Given the description of an element on the screen output the (x, y) to click on. 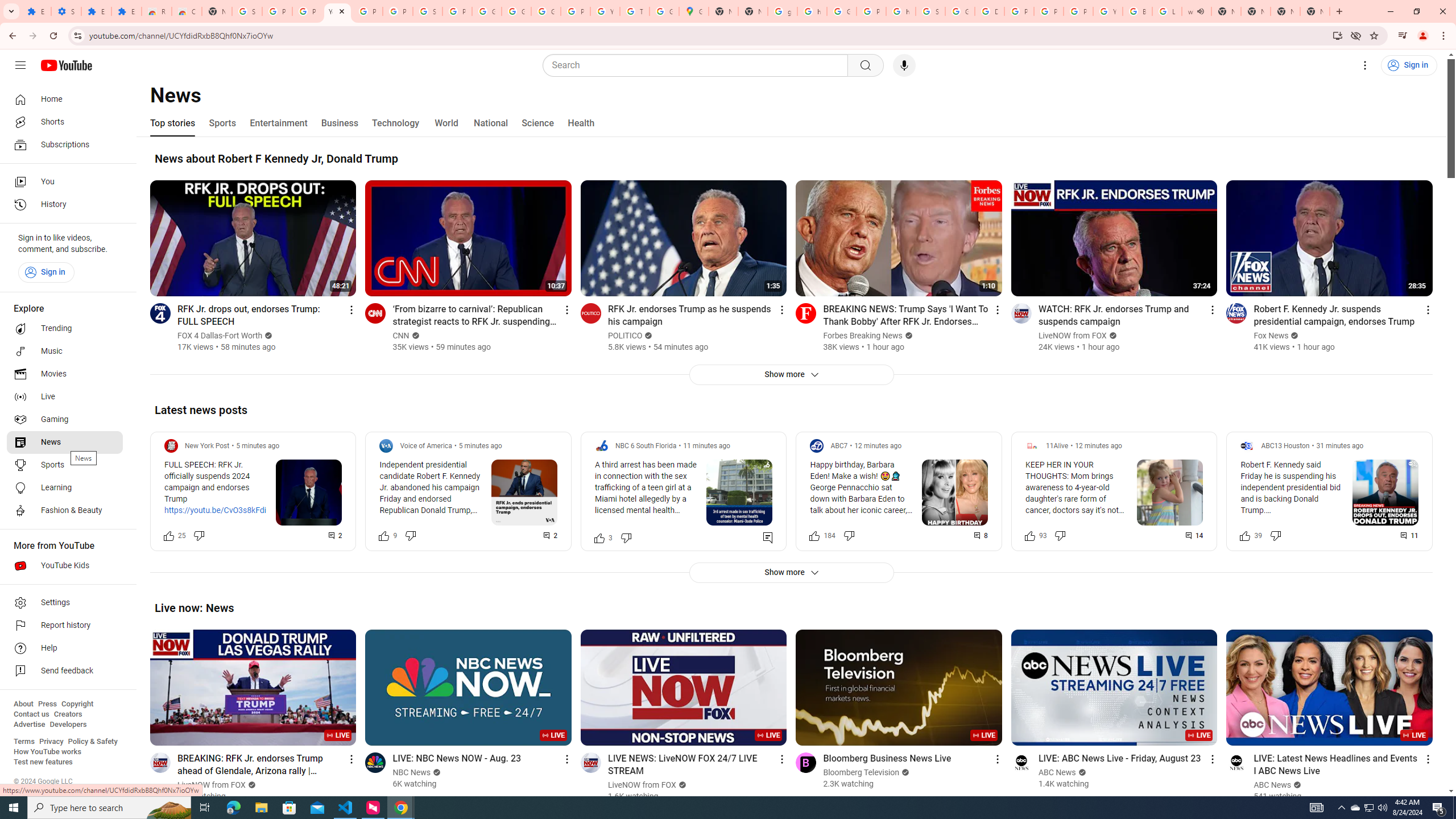
New York Post (207, 445)
YouTube (337, 11)
Live (64, 396)
Sign in - Google Accounts (426, 11)
